Given the description of an element on the screen output the (x, y) to click on. 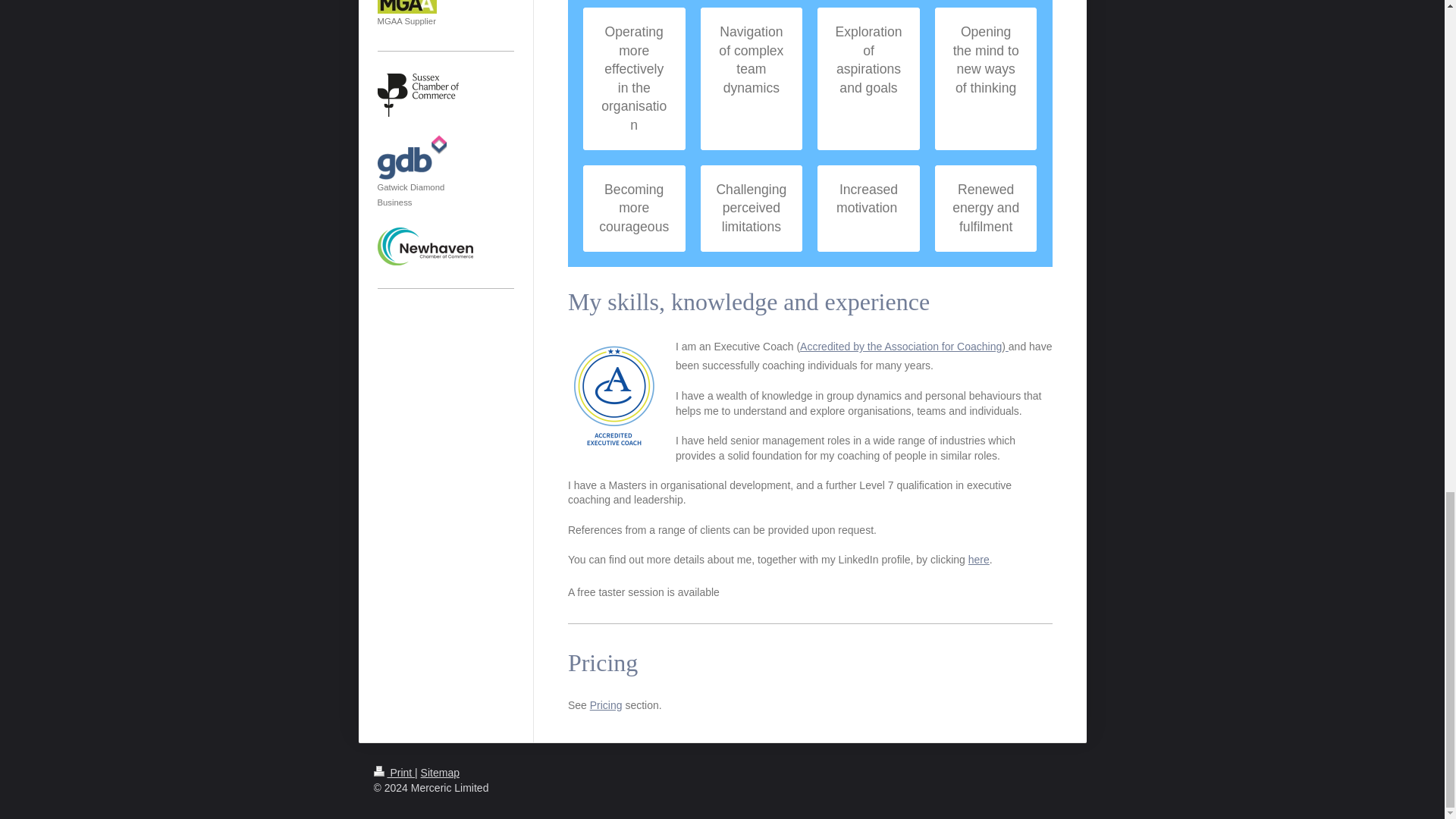
Gatwick Diamond Business (411, 163)
Print (393, 772)
Pricing (606, 705)
MGAA Supplier (406, 13)
here (979, 559)
Accredited by the Association for Coaching (900, 346)
